Given the description of an element on the screen output the (x, y) to click on. 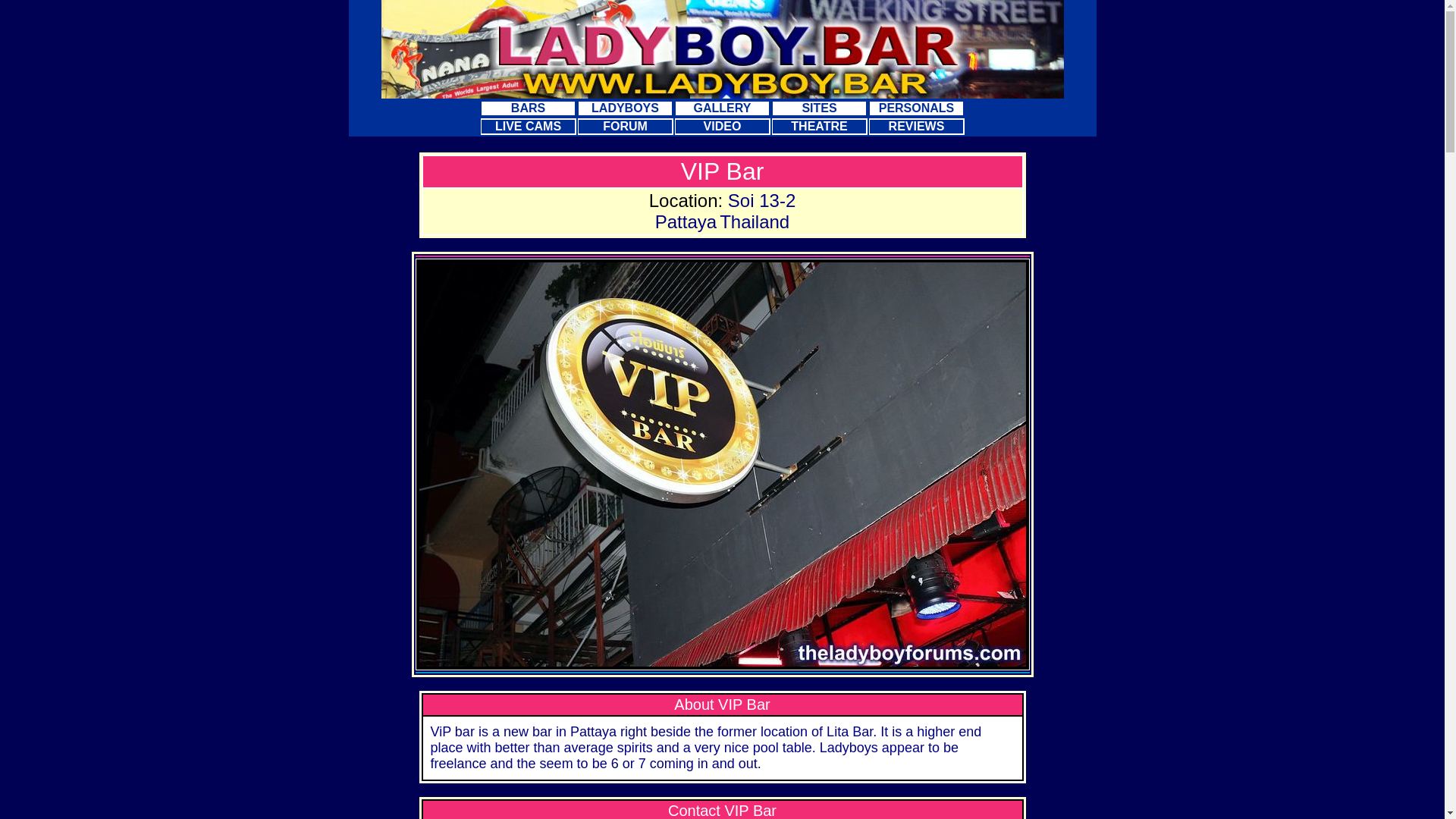
SITES Element type: text (818, 108)
FORUM Element type: text (624, 126)
GALLERY Element type: text (721, 108)
REVIEWS Element type: text (916, 126)
BARS Element type: text (527, 108)
LIVE CAMS Element type: text (527, 126)
VIDEO Element type: text (721, 126)
LADYBOYS Element type: text (624, 108)
THEATRE Element type: text (818, 126)
PERSONALS Element type: text (916, 108)
